Given the description of an element on the screen output the (x, y) to click on. 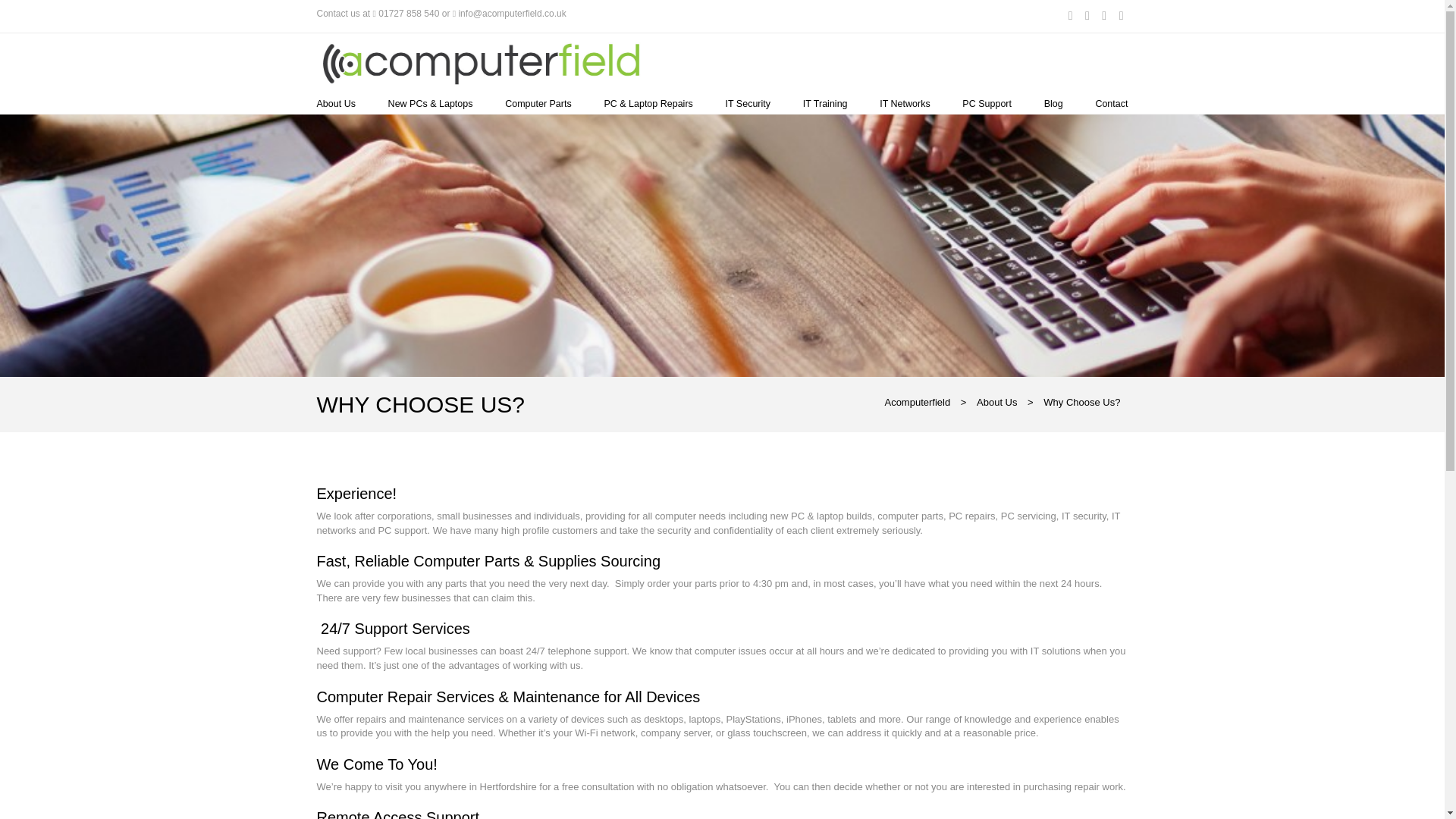
IT Networks (904, 103)
01727 858 540 (408, 13)
IT Security (747, 103)
Go to About Us. (996, 401)
Go to Acomputerfield. (916, 401)
About Us (336, 103)
Computer Parts (538, 103)
IT Training (825, 103)
